Given the description of an element on the screen output the (x, y) to click on. 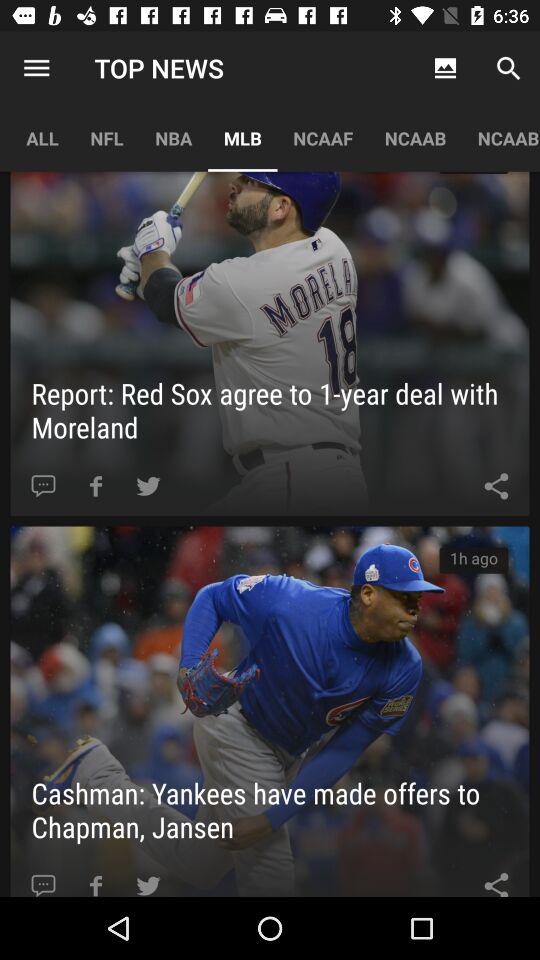
turn off the ncaabbl icon (500, 138)
